Given the description of an element on the screen output the (x, y) to click on. 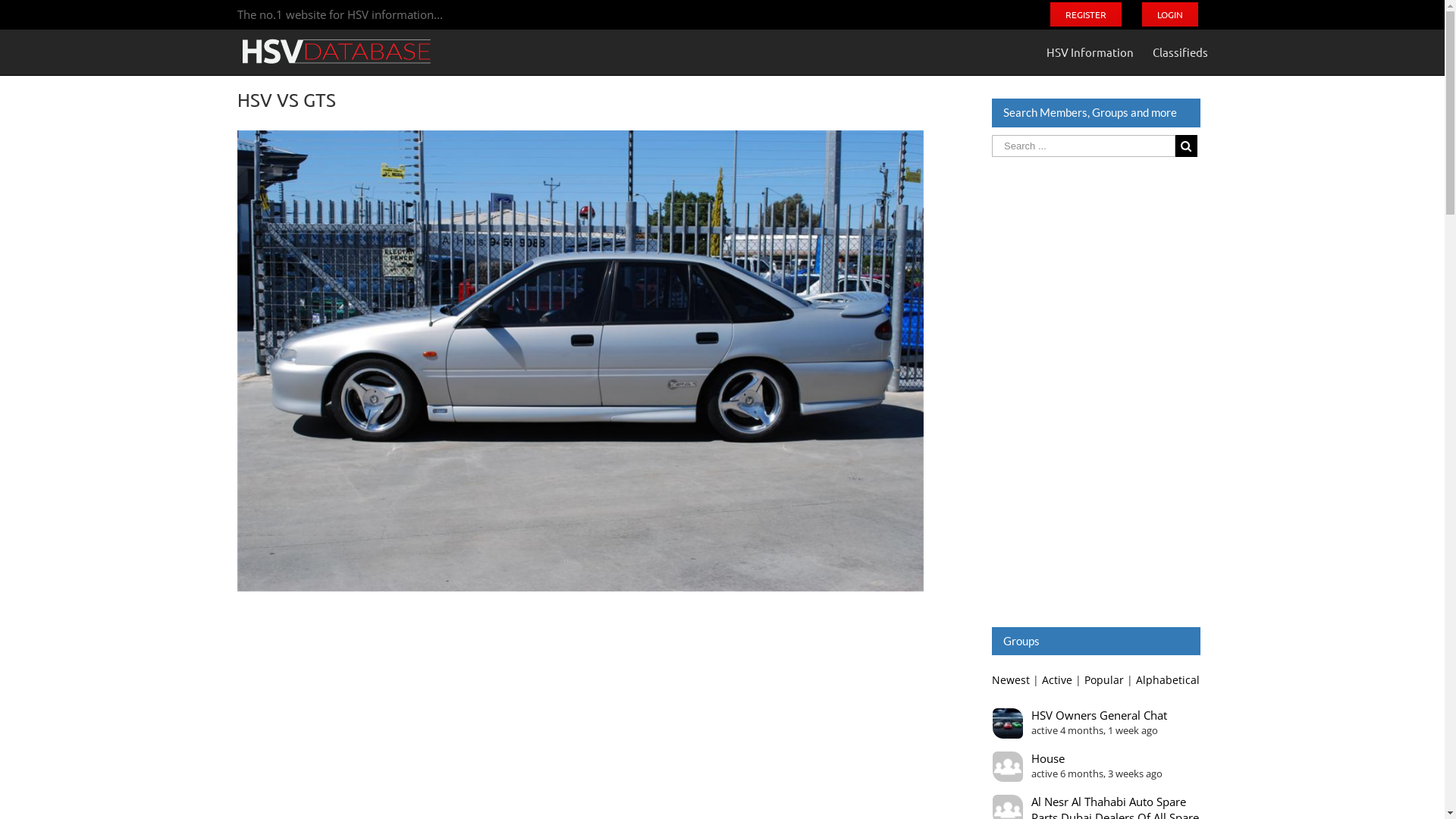
Classifieds Element type: text (1180, 52)
REGISTER Element type: text (1085, 14)
LOGIN Element type: text (1169, 14)
View Larger Image Element type: text (579, 360)
Active Element type: text (1056, 680)
Alphabetical Element type: text (1167, 680)
Advertisement Element type: hover (1095, 390)
Newest Element type: text (1010, 680)
Popular Element type: text (1103, 680)
HSV Information Element type: text (1089, 52)
House Element type: text (1095, 758)
HSV Owners General Chat Element type: text (1095, 715)
